Given the description of an element on the screen output the (x, y) to click on. 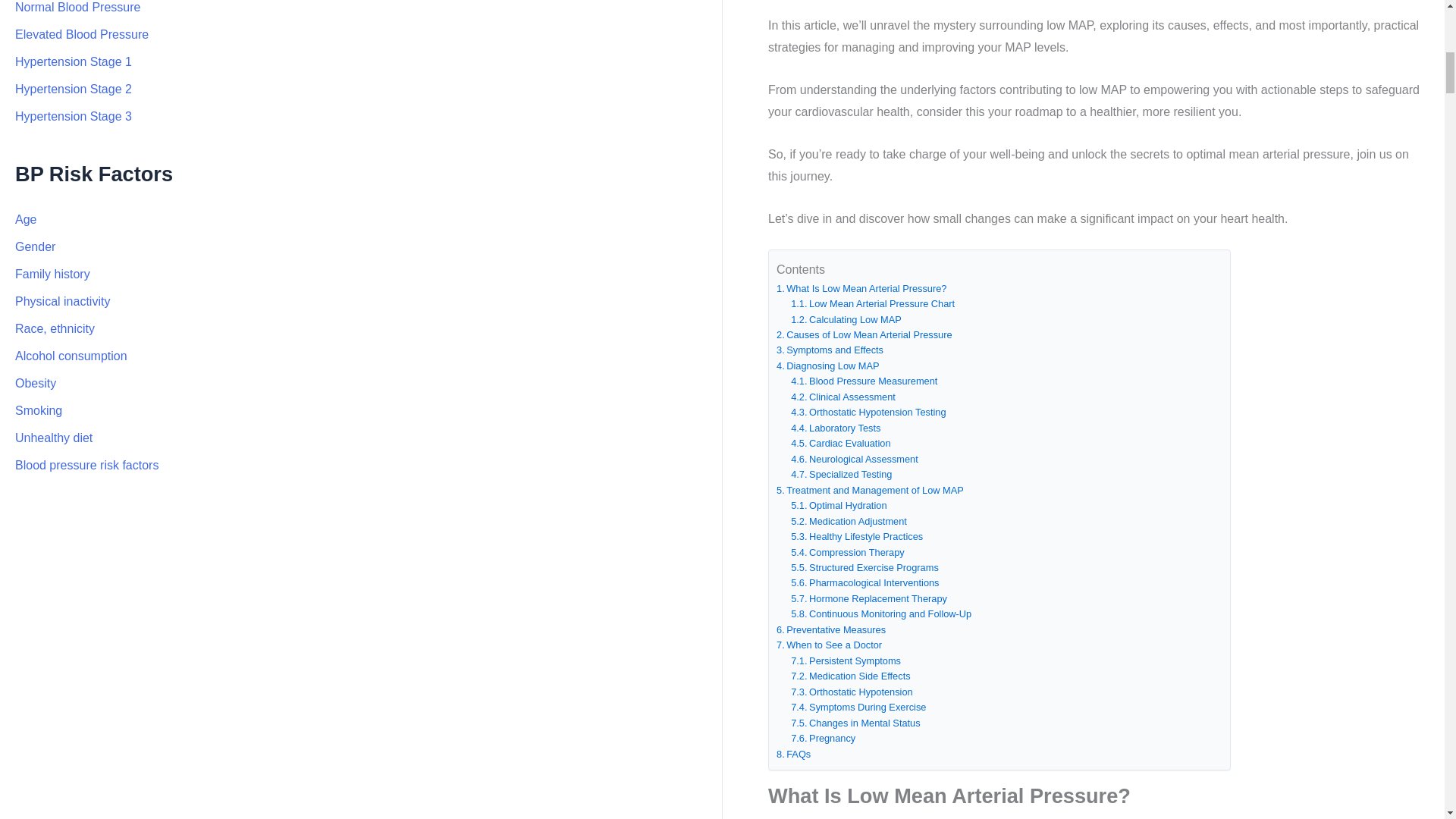
Hypertension Stage 1 (73, 61)
Laboratory Tests (835, 427)
Calculating Low MAP (845, 319)
What Is Low Mean Arterial Pressure? (861, 288)
Medication Adjustment (848, 521)
Optimal Hydration (838, 505)
Neurological Assessment (854, 459)
Obesity (35, 382)
Age (25, 219)
Causes of Low Mean Arterial Pressure (864, 335)
